Given the description of an element on the screen output the (x, y) to click on. 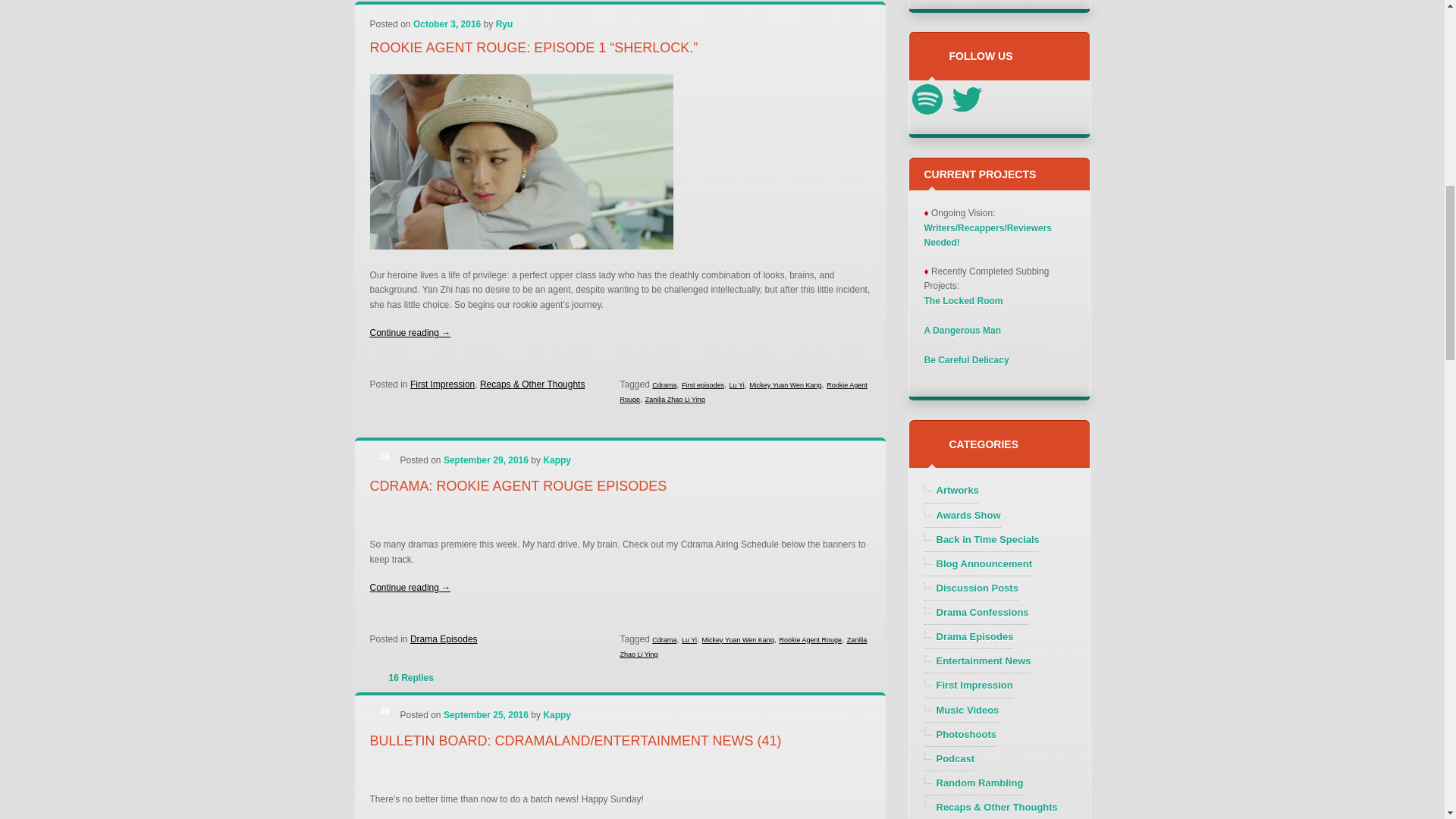
9:40 pm (486, 460)
4:30 pm (486, 715)
View all posts by Ryu (504, 23)
View all posts by Kappy (556, 715)
Permalink to Cdrama: Rookie Agent Rouge Episodes (517, 485)
4:43 am (446, 23)
View all posts by Kappy (556, 460)
